Given the description of an element on the screen output the (x, y) to click on. 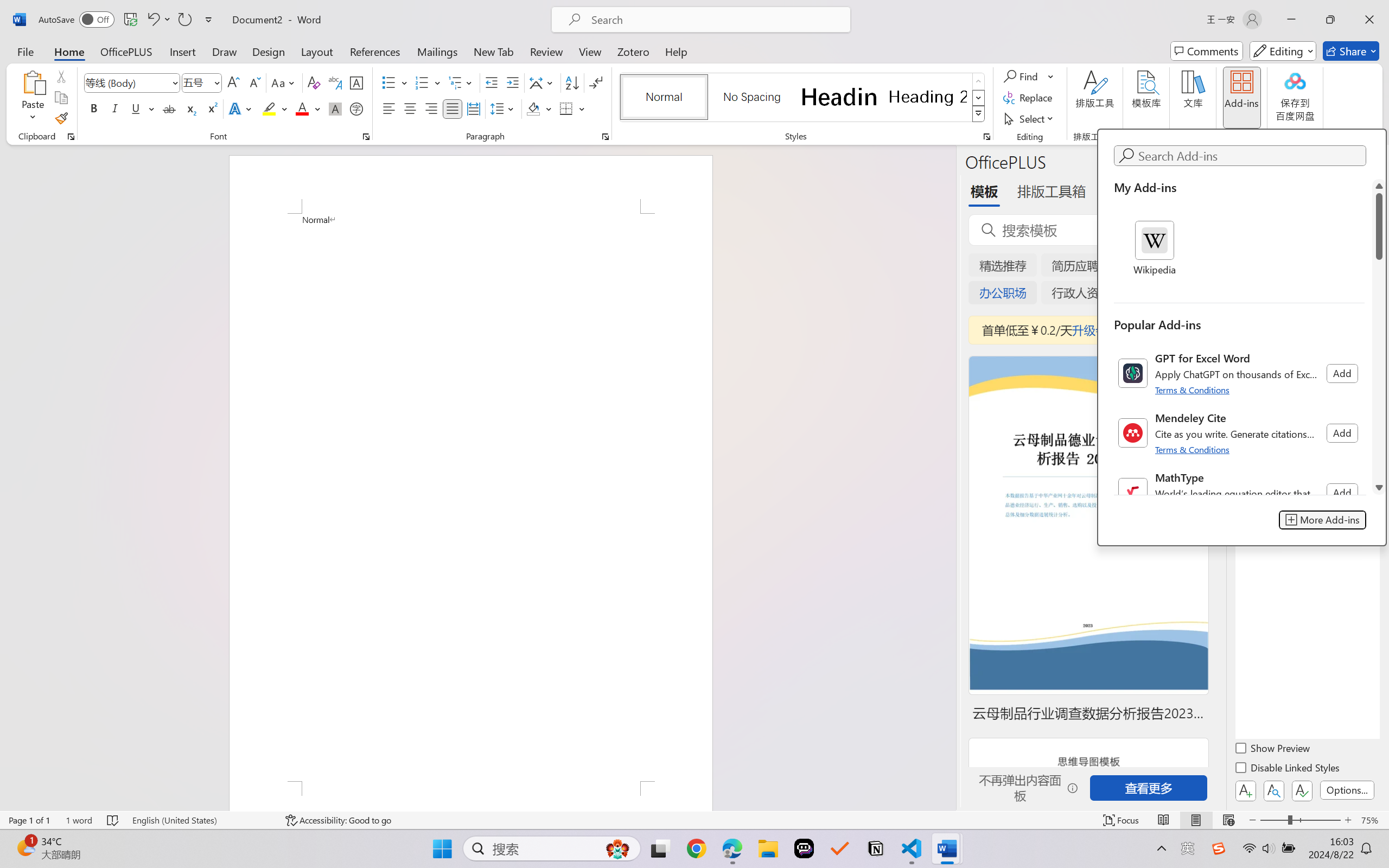
Page 1 content (470, 497)
Options... (1346, 789)
Add (1342, 492)
Superscript (210, 108)
Class: NetUIButton (1301, 790)
Bold (94, 108)
Character Shading (334, 108)
Web Layout (1228, 819)
Spelling and Grammar Check No Errors (113, 819)
Numbering (428, 82)
